Given the description of an element on the screen output the (x, y) to click on. 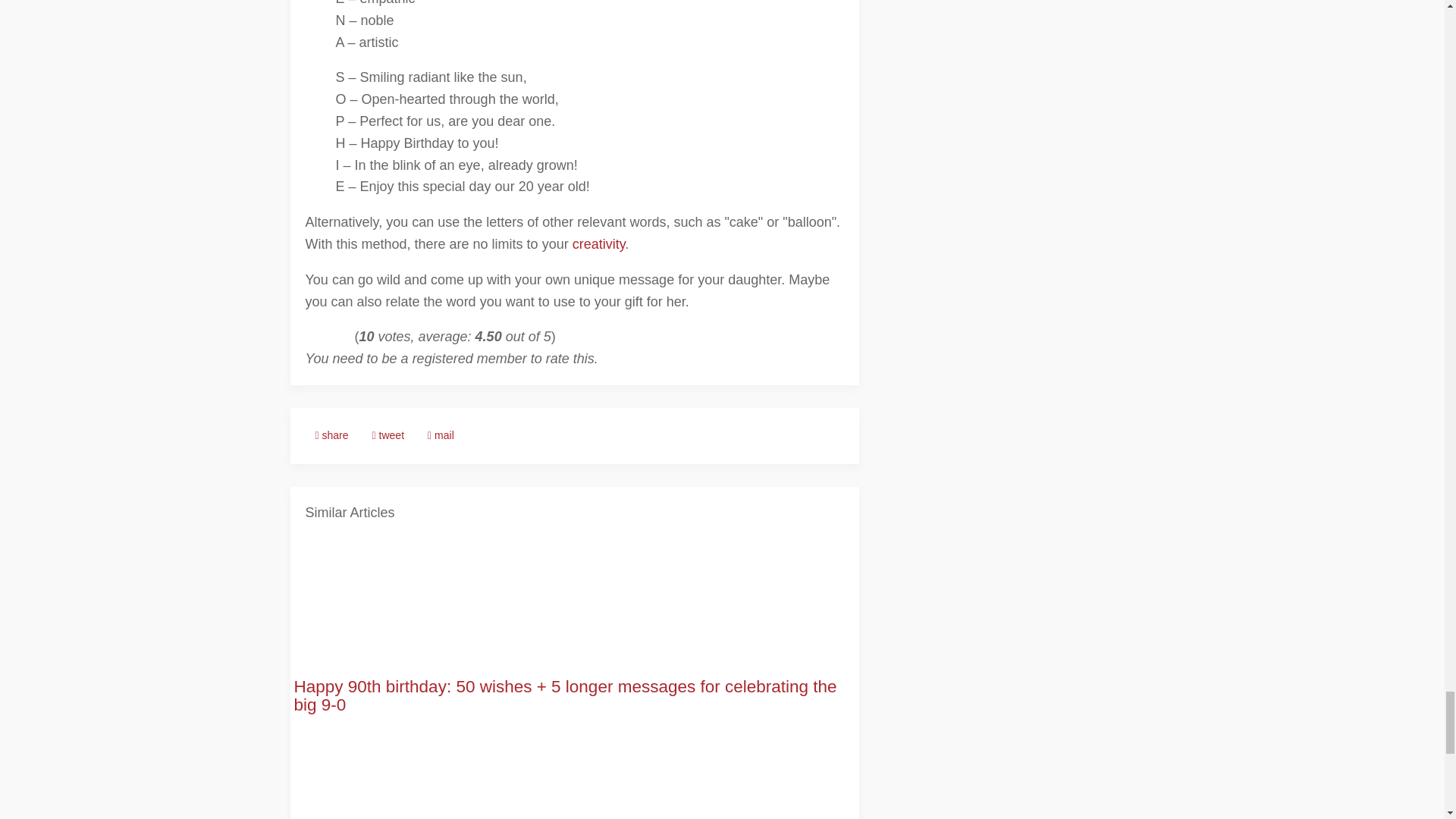
10 votes, average: 4.50 out of 5 (309, 338)
creativity (599, 243)
mail (440, 435)
10 votes, average: 4.50 out of 5 (318, 338)
tweet (387, 435)
share (331, 435)
